Given the description of an element on the screen output the (x, y) to click on. 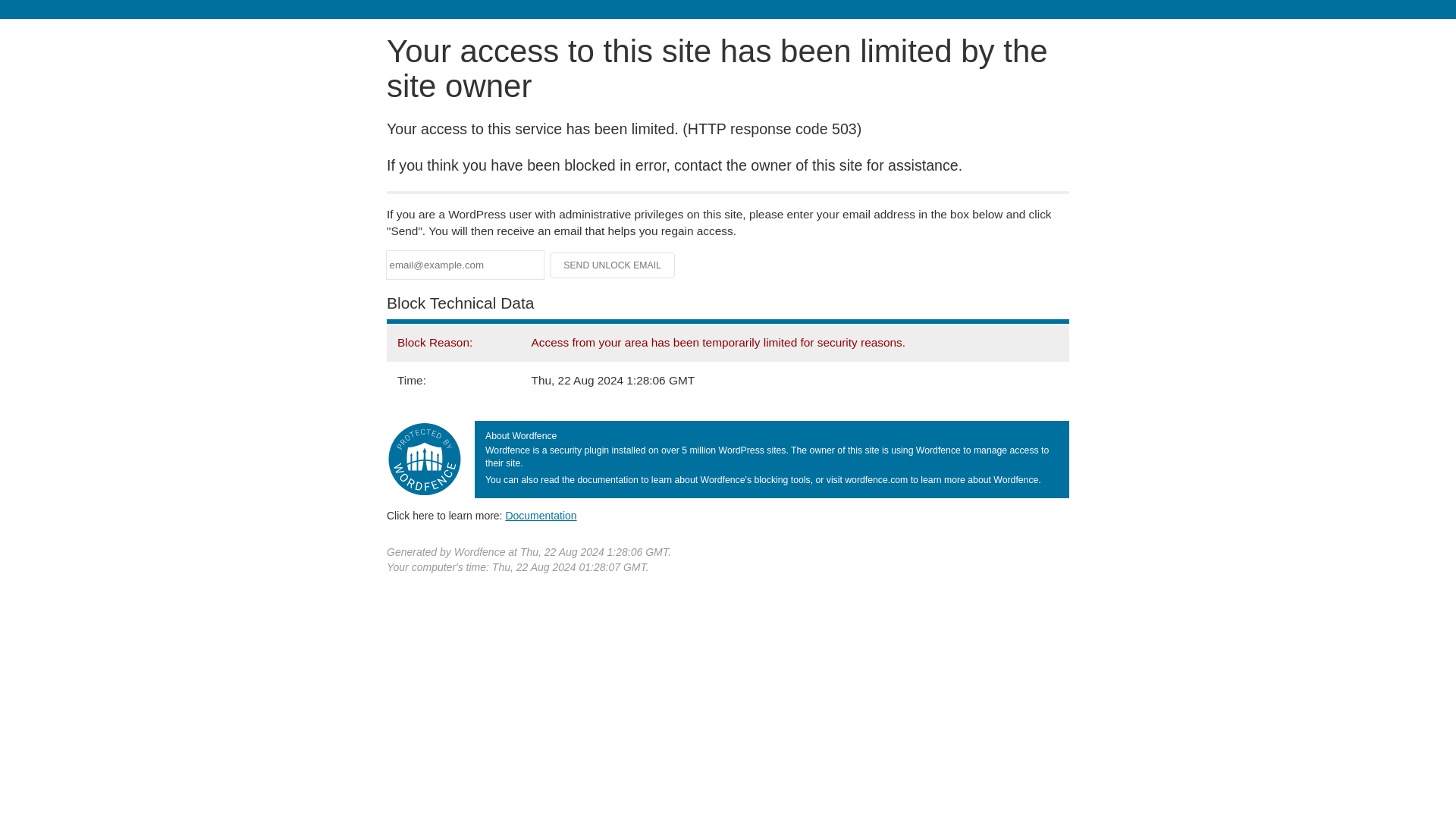
Documentation (540, 515)
Send Unlock Email (612, 265)
Send Unlock Email (612, 265)
